Given the description of an element on the screen output the (x, y) to click on. 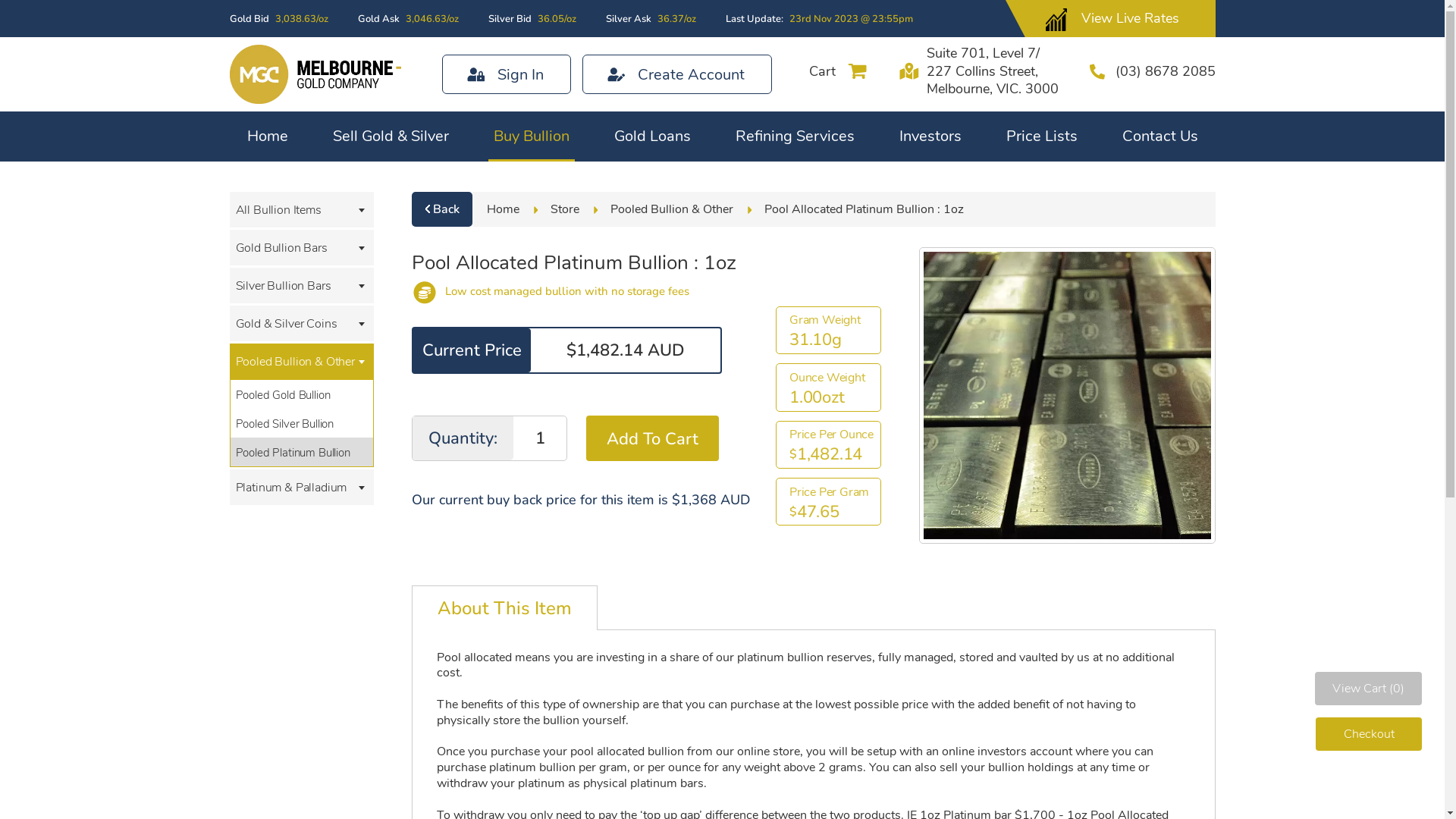
Pooled Platinum Bullion Element type: text (301, 451)
Gold Bullion Bars Element type: text (301, 247)
Pooled Gold Bullion Element type: text (301, 393)
Investors Element type: text (929, 143)
Sign In Element type: text (506, 74)
Price Lists Element type: text (1041, 143)
Gold & Silver Coins Element type: text (301, 323)
Contact Us Element type: text (1159, 143)
Create Account Element type: text (676, 74)
Refining Services Element type: text (794, 143)
Checkout Element type: text (1368, 733)
Platinum & Palladium Element type: text (301, 487)
(03) 8678 2085 Element type: text (1164, 71)
Home Element type: text (502, 208)
Pooled Bullion & Other Element type: text (671, 208)
View Live Rates Element type: text (1130, 18)
Store Element type: text (564, 208)
Suite 701, Level 7/ 227 Collins Street, Melbourne, VIC. 3000 Element type: text (992, 70)
All Bullion Items Element type: text (301, 209)
Gold Loans Element type: text (651, 143)
Buy Bullion Element type: text (531, 143)
Home Element type: text (266, 143)
Silver Bullion Bars Element type: text (301, 285)
Sell Gold & Silver Element type: text (390, 143)
Cart Element type: text (821, 71)
Pooled Bullion & Other Element type: text (301, 361)
Pool Allocated Platinum Bullion : 1oz Element type: text (863, 208)
Back Element type: text (441, 208)
Add To Cart Element type: text (652, 438)
View Cart (0) Element type: text (1367, 688)
Pooled Silver Bullion Element type: text (301, 422)
